Given the description of an element on the screen output the (x, y) to click on. 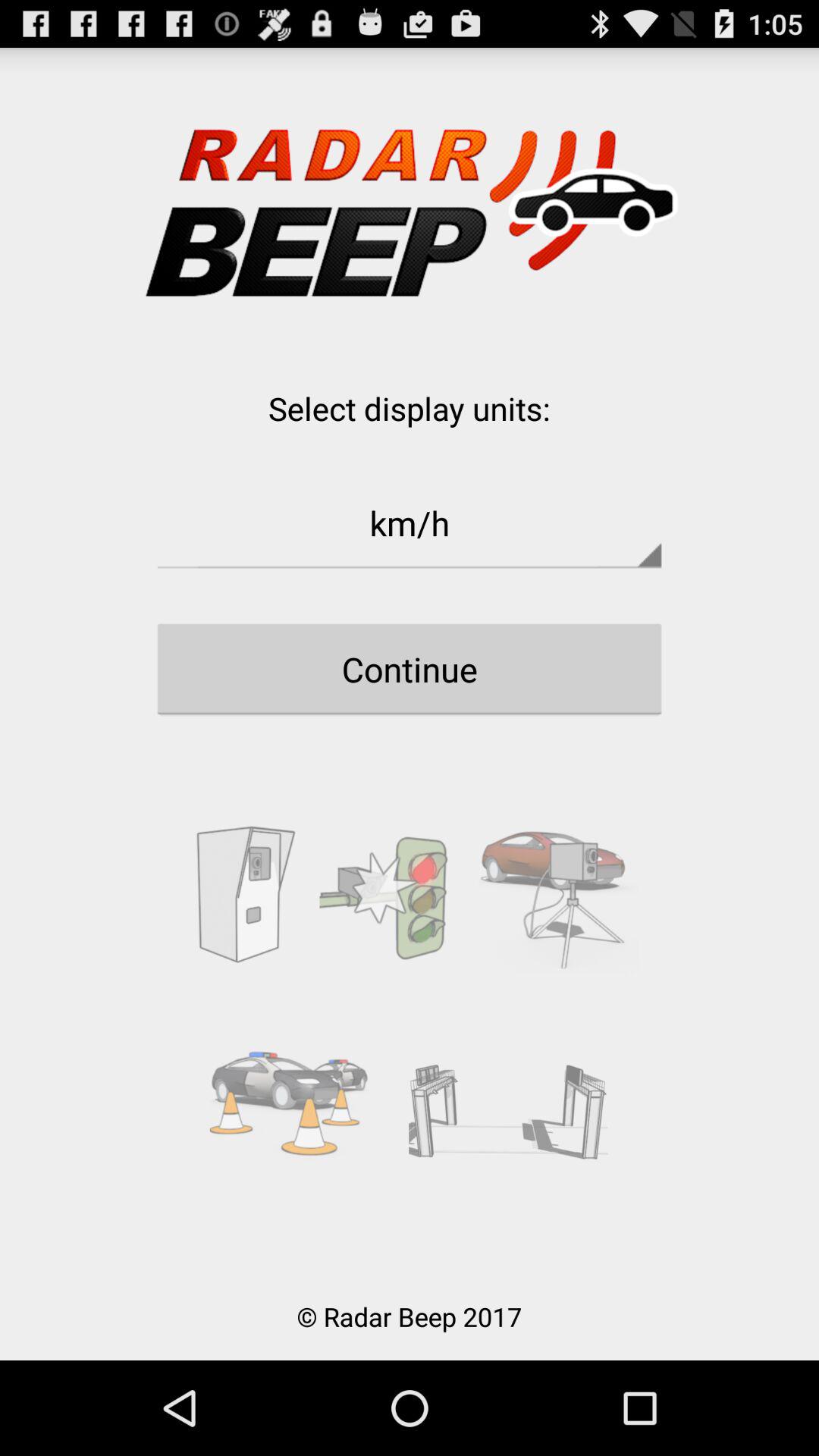
open item below the select display units: app (409, 522)
